Given the description of an element on the screen output the (x, y) to click on. 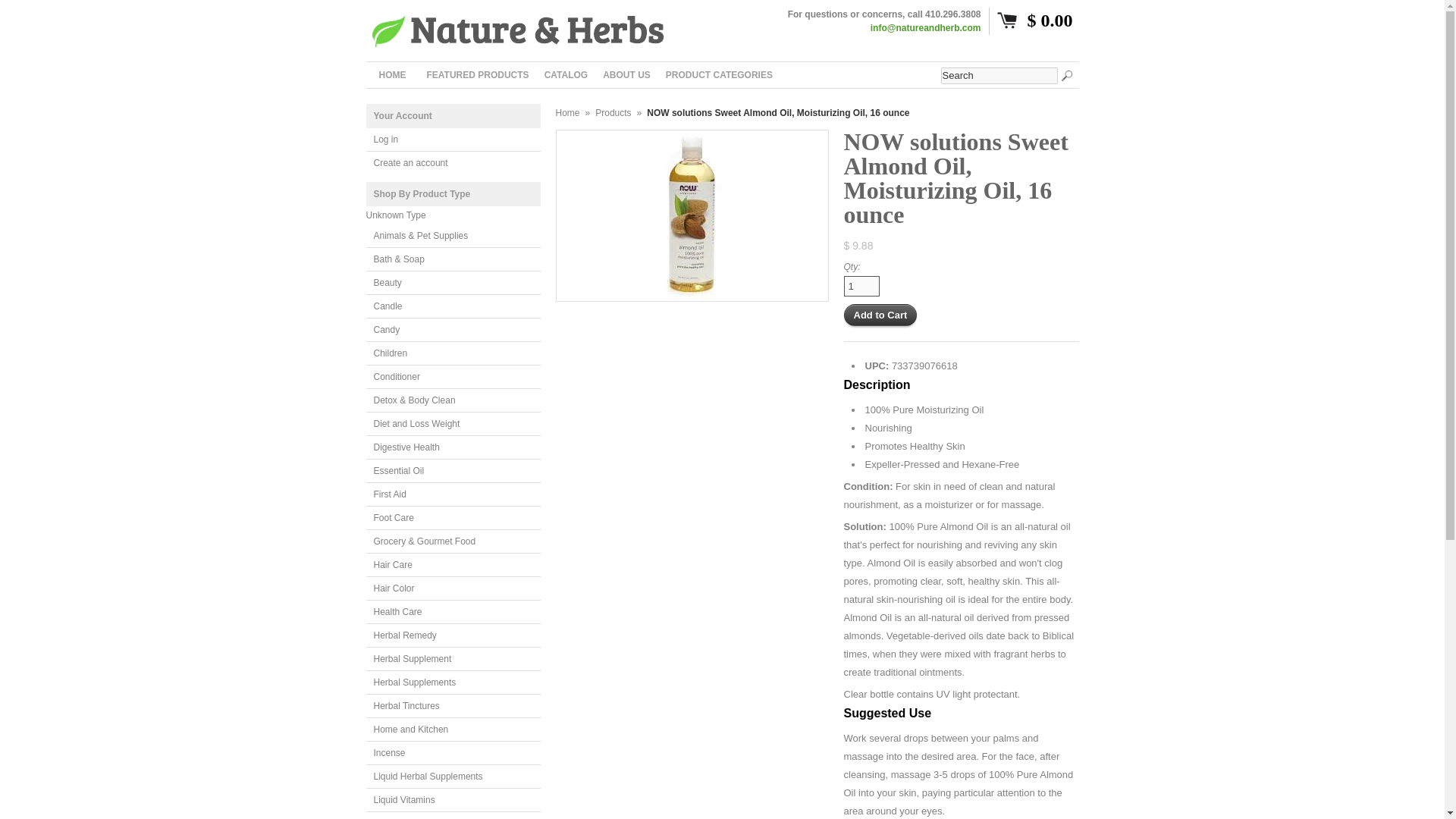
Herbal Supplements (452, 682)
FEATURED PRODUCTS (477, 74)
Hair Care (452, 565)
Digestive Health (452, 447)
Conditioner (452, 377)
Beauty (452, 282)
Liquid Vitamins (452, 800)
Foot Care (452, 517)
CATALOG (566, 74)
Incense (452, 753)
Add to Cart (880, 314)
Hair Color (452, 588)
Hair Color (452, 588)
Conditioner (452, 377)
Hair Care (452, 565)
